Given the description of an element on the screen output the (x, y) to click on. 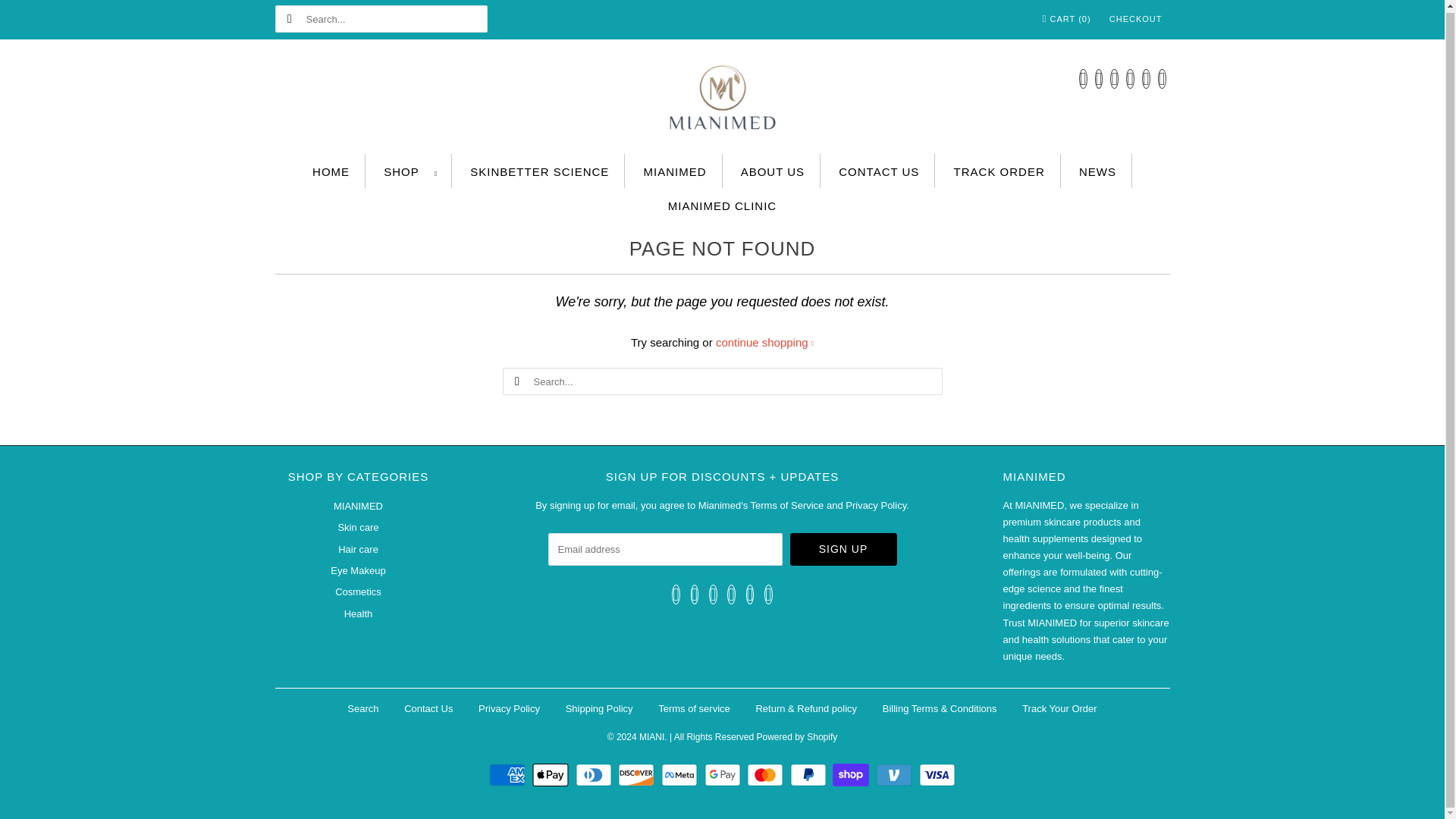
Sign Up (843, 549)
Diners Club (595, 774)
CHECKOUT (1135, 18)
Meta Pay (681, 774)
MIANI (722, 100)
Discover (637, 774)
Mastercard (766, 774)
HOME (331, 171)
Google Pay (723, 774)
American Express (509, 774)
